Given the description of an element on the screen output the (x, y) to click on. 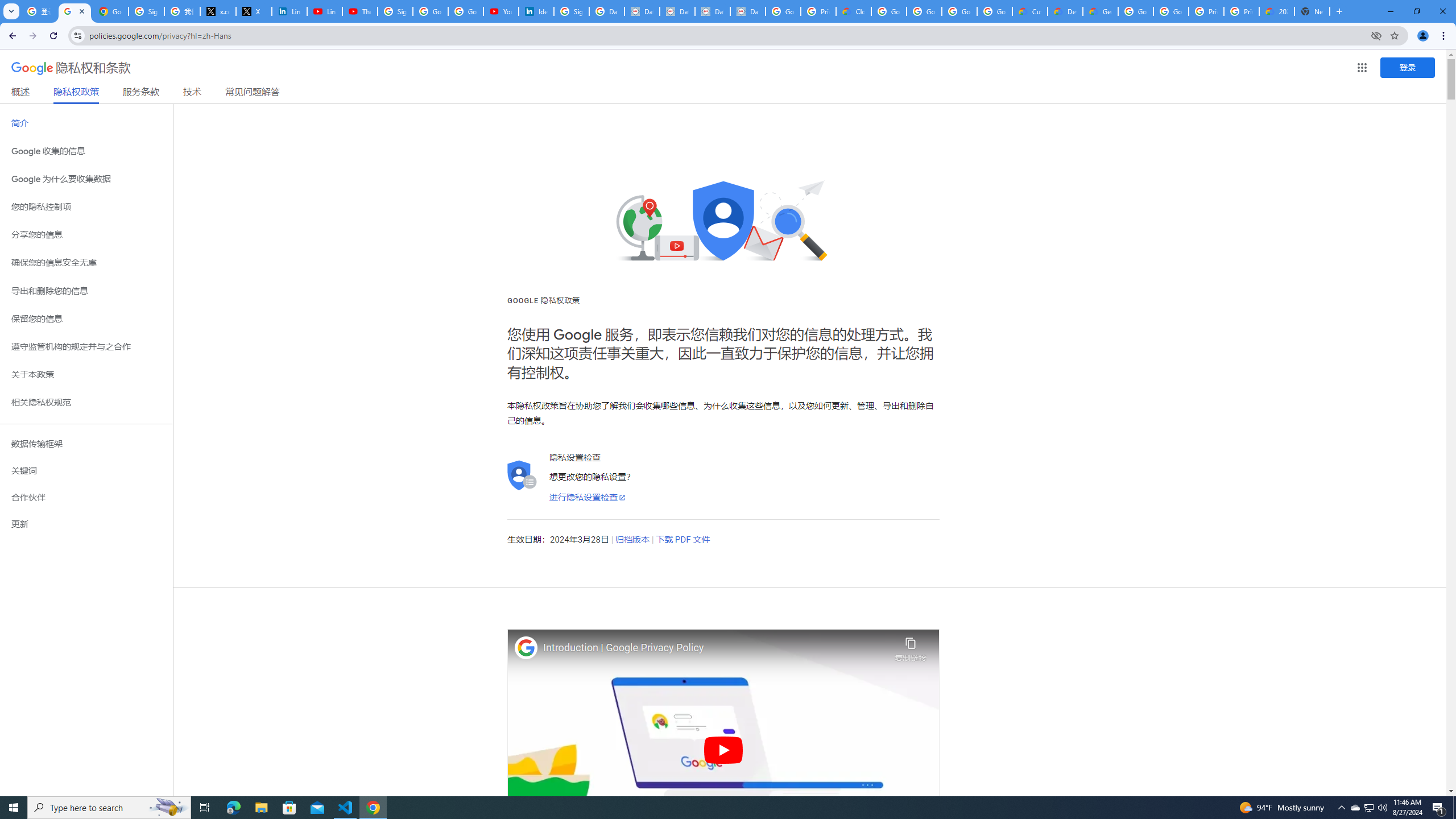
Introduction | Google Privacy Policy (716, 648)
Data Privacy Framework (641, 11)
Cloud Data Processing Addendum | Google Cloud (853, 11)
LinkedIn - YouTube (324, 11)
Data Privacy Framework (677, 11)
Google Cloud Platform (1135, 11)
